Given the description of an element on the screen output the (x, y) to click on. 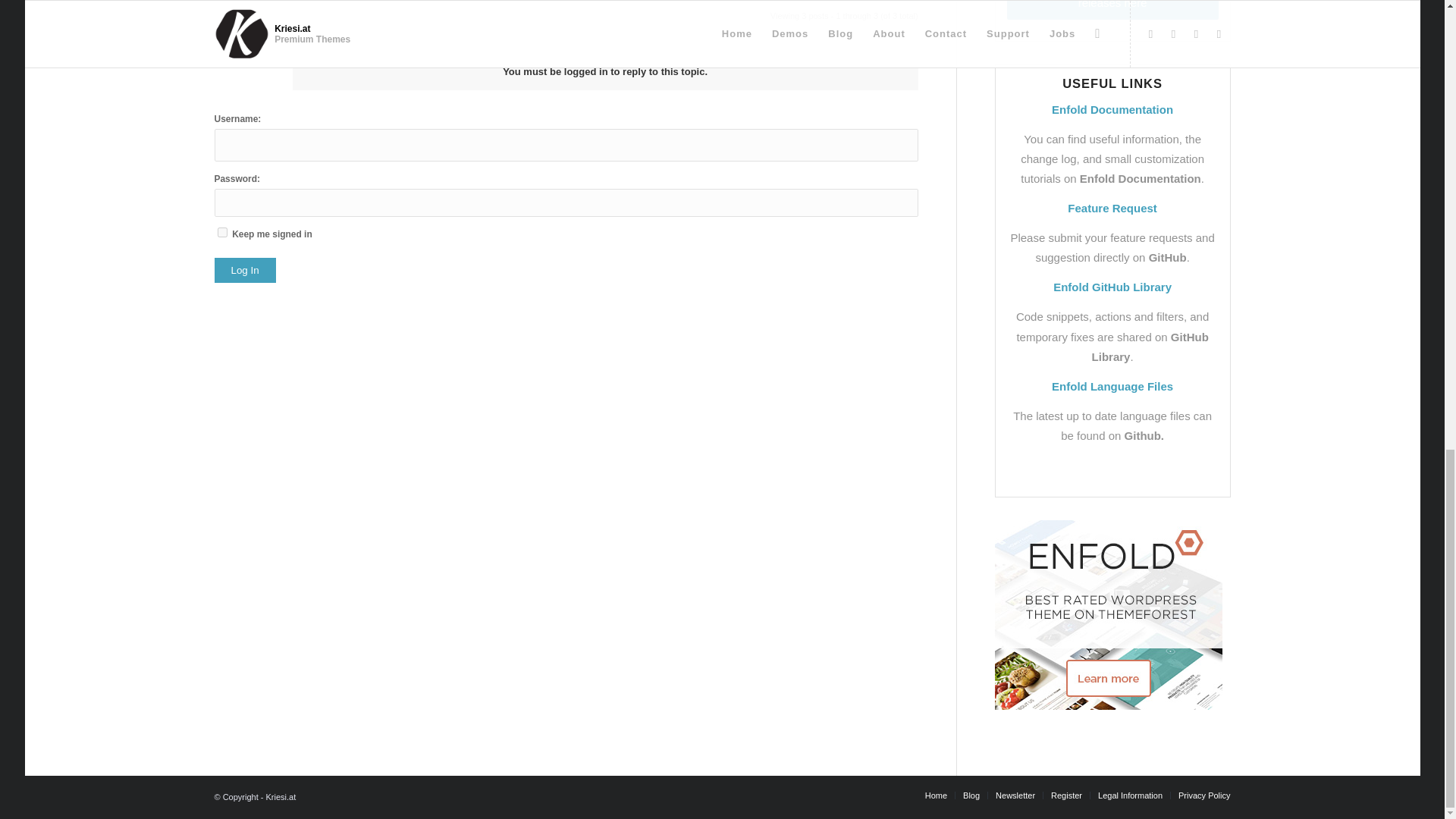
Check the changelog of previous releases here (1112, 9)
forever (221, 232)
Log In (244, 269)
